Given the description of an element on the screen output the (x, y) to click on. 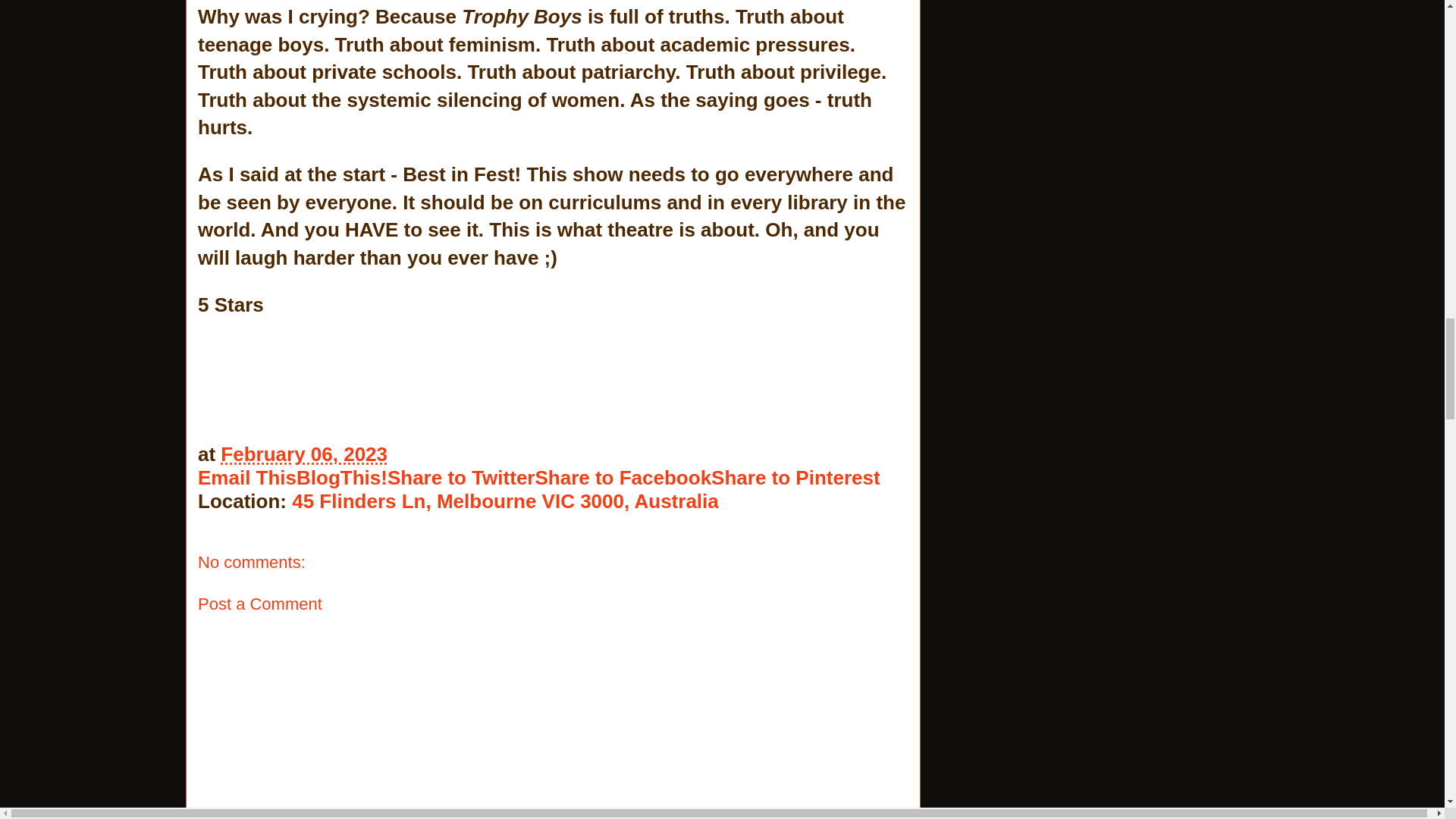
Share to Facebook (622, 477)
45 Flinders Ln, Melbourne VIC 3000, Australia (505, 500)
February 06, 2023 (304, 454)
permanent link (304, 454)
Share to Pinterest (795, 477)
Email This (247, 477)
Share to Twitter (461, 477)
Share to Facebook (622, 477)
BlogThis! (342, 477)
Share to Twitter (461, 477)
Share to Pinterest (795, 477)
BlogThis! (342, 477)
Email This (247, 477)
